Given the description of an element on the screen output the (x, y) to click on. 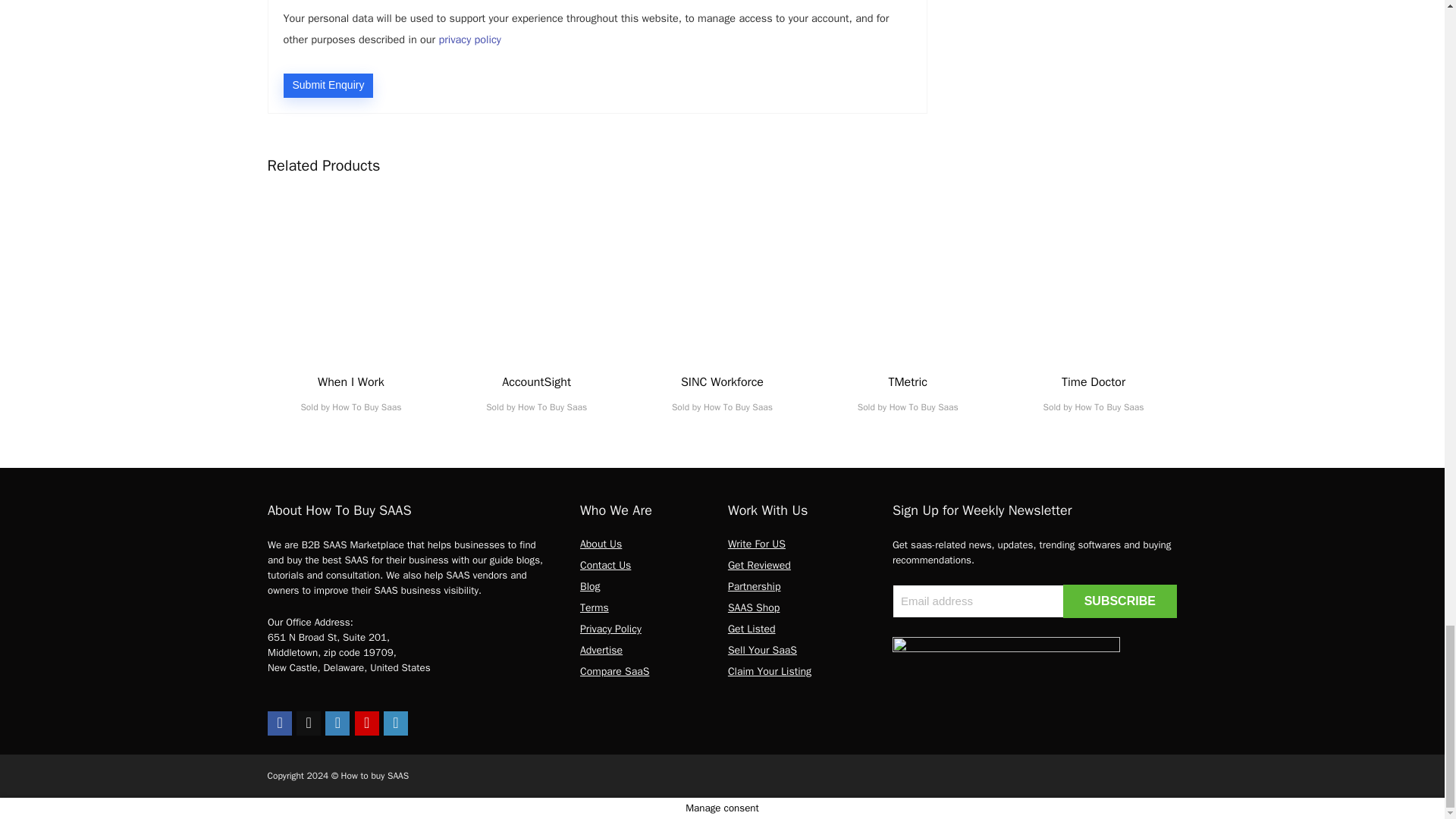
Instagramm (336, 723)
Linkedin (395, 723)
Youtube (366, 723)
Subscribe (1119, 601)
twitter (308, 723)
Facebook (279, 723)
Submit Enquiry (328, 85)
